Given the description of an element on the screen output the (x, y) to click on. 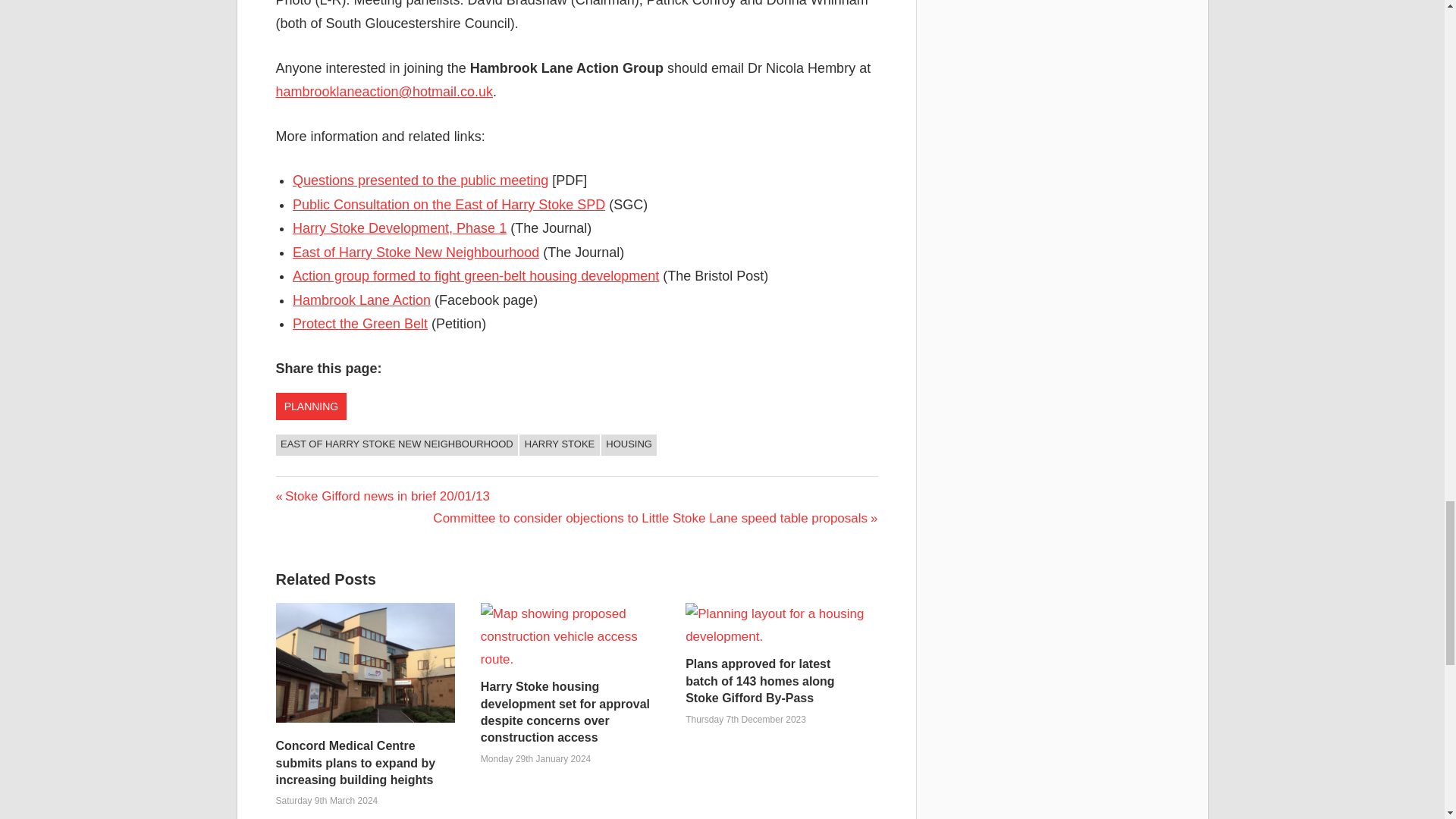
6:19pm (327, 800)
